Given the description of an element on the screen output the (x, y) to click on. 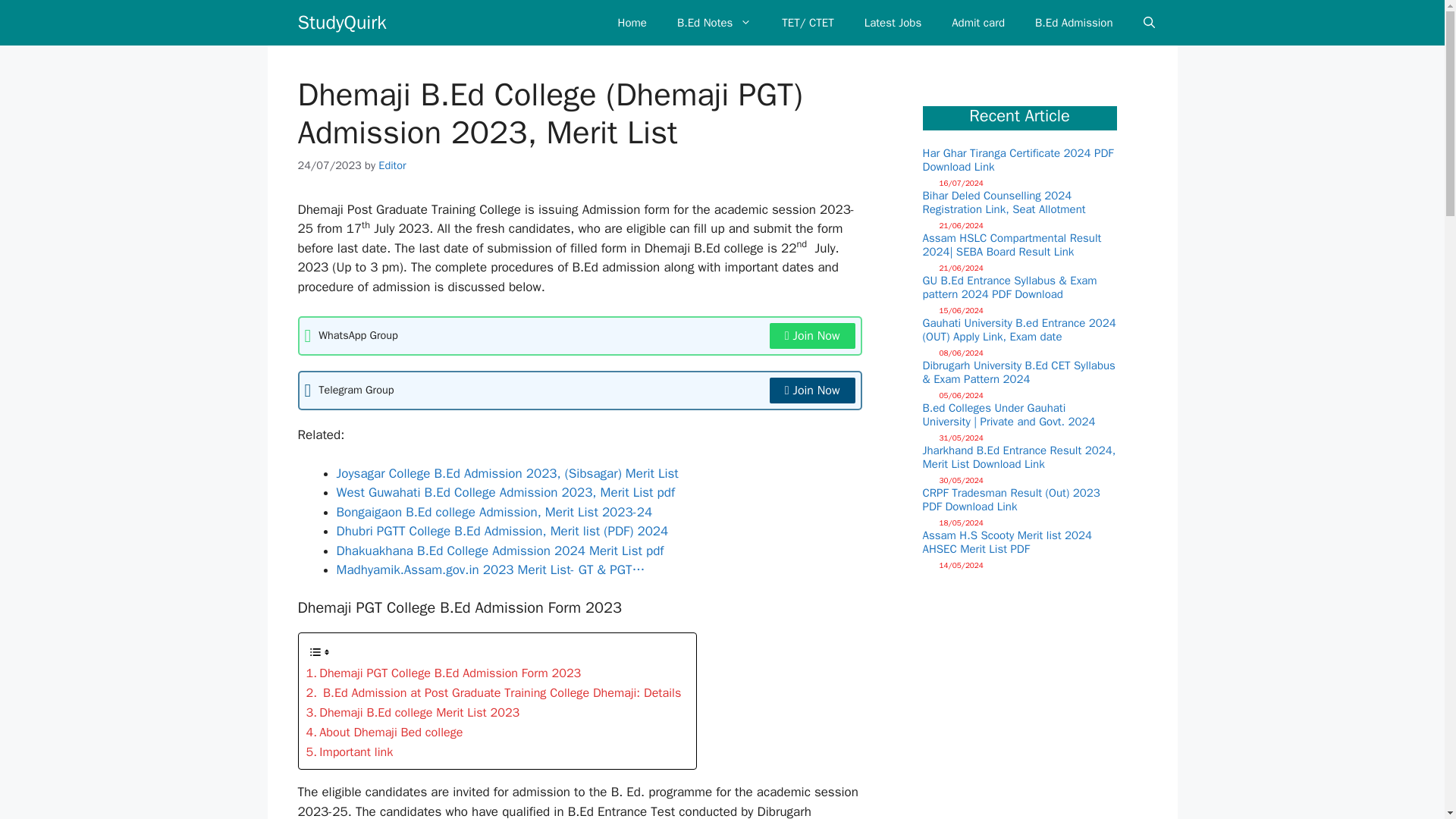
View all posts by Editor (392, 164)
West Guwahati B.Ed College Admission 2023, Merit List pdf (505, 492)
Latest Jobs (892, 22)
StudyQuirk (341, 22)
Admit card (978, 22)
Dhakuakhana B.Ed College Admission 2024 Merit List pdf (499, 550)
Important link (349, 752)
Important link (349, 752)
B.Ed Notes (714, 22)
Join Now (813, 390)
About Dhemaji Bed college (384, 732)
Dhemaji PGT College B.Ed Admission Form 2023 (442, 673)
Join Now (813, 335)
